Given the description of an element on the screen output the (x, y) to click on. 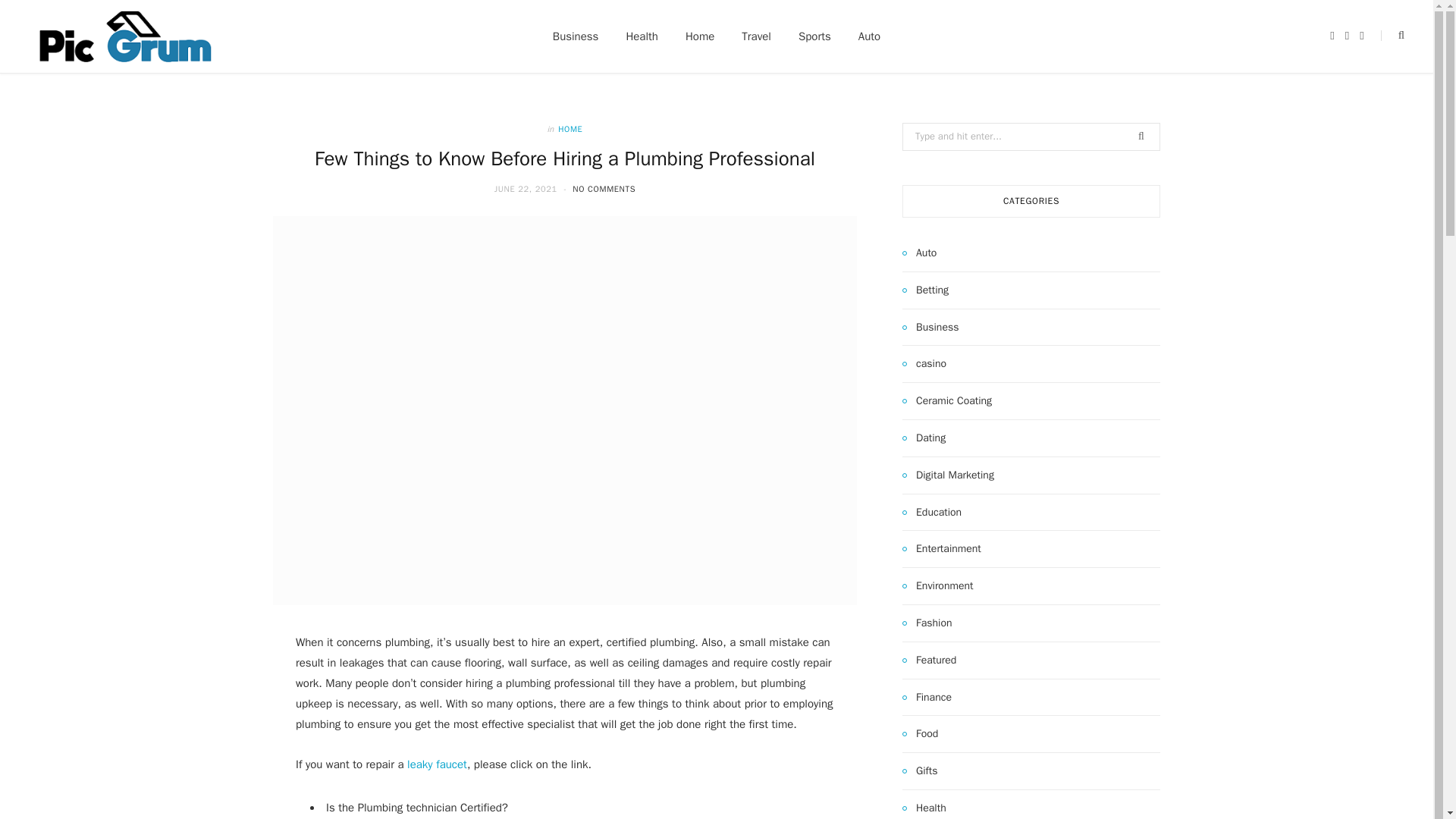
Search for: (1031, 136)
Facebook (1331, 35)
Travel (756, 36)
HOME (569, 128)
Business (575, 36)
casino (924, 363)
Auto (868, 36)
Instagram (1360, 35)
Home (699, 36)
Sports (814, 36)
Auto (919, 253)
Health (641, 36)
Search (1392, 36)
leaky faucet (437, 764)
NO COMMENTS (603, 188)
